Given the description of an element on the screen output the (x, y) to click on. 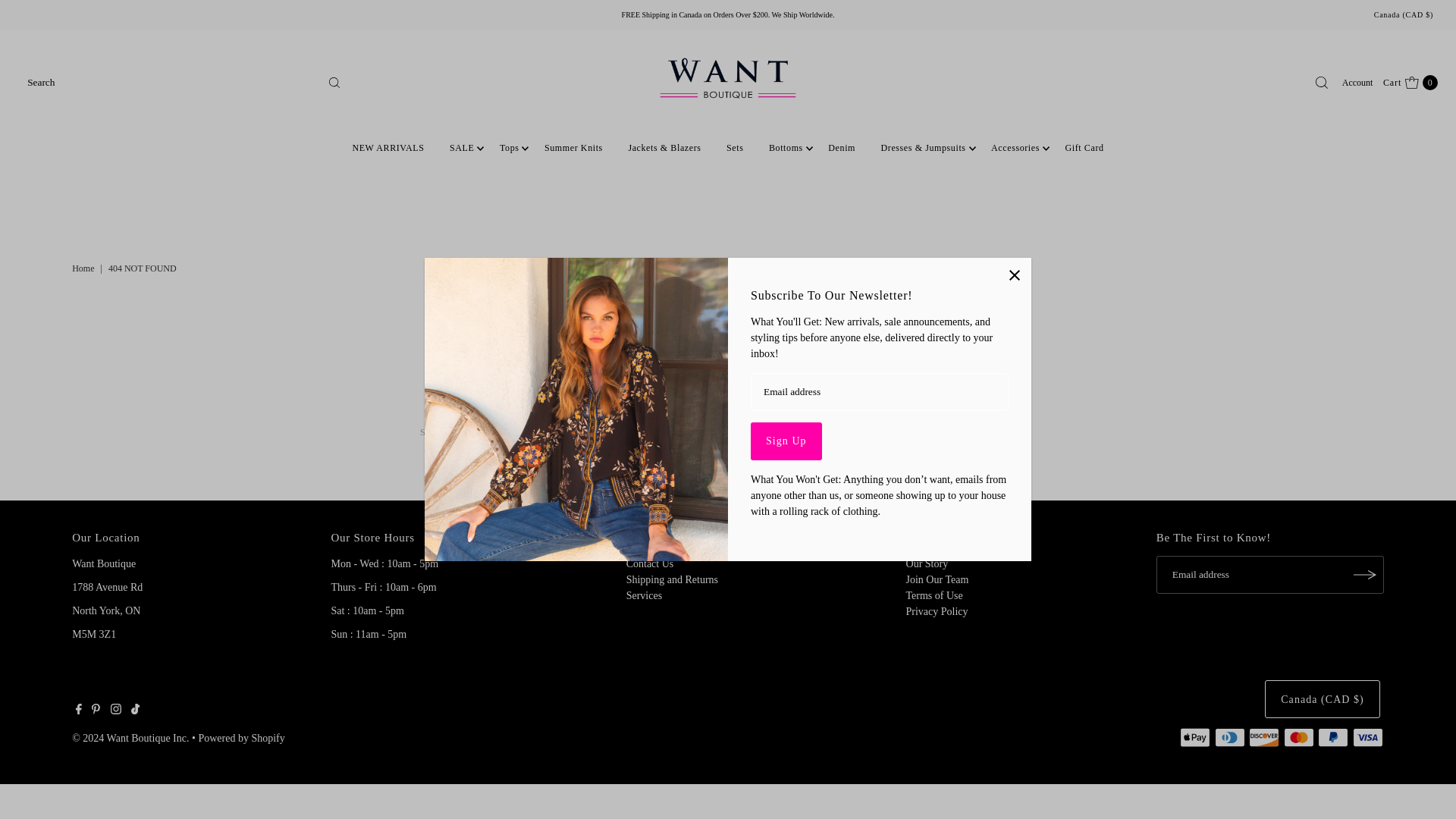
Discover (1264, 737)
Visa (1367, 737)
Mastercard (1299, 737)
Sign Up (786, 441)
Apple Pay (1194, 737)
Diners Club (1229, 737)
PayPal (1332, 737)
